Given the description of an element on the screen output the (x, y) to click on. 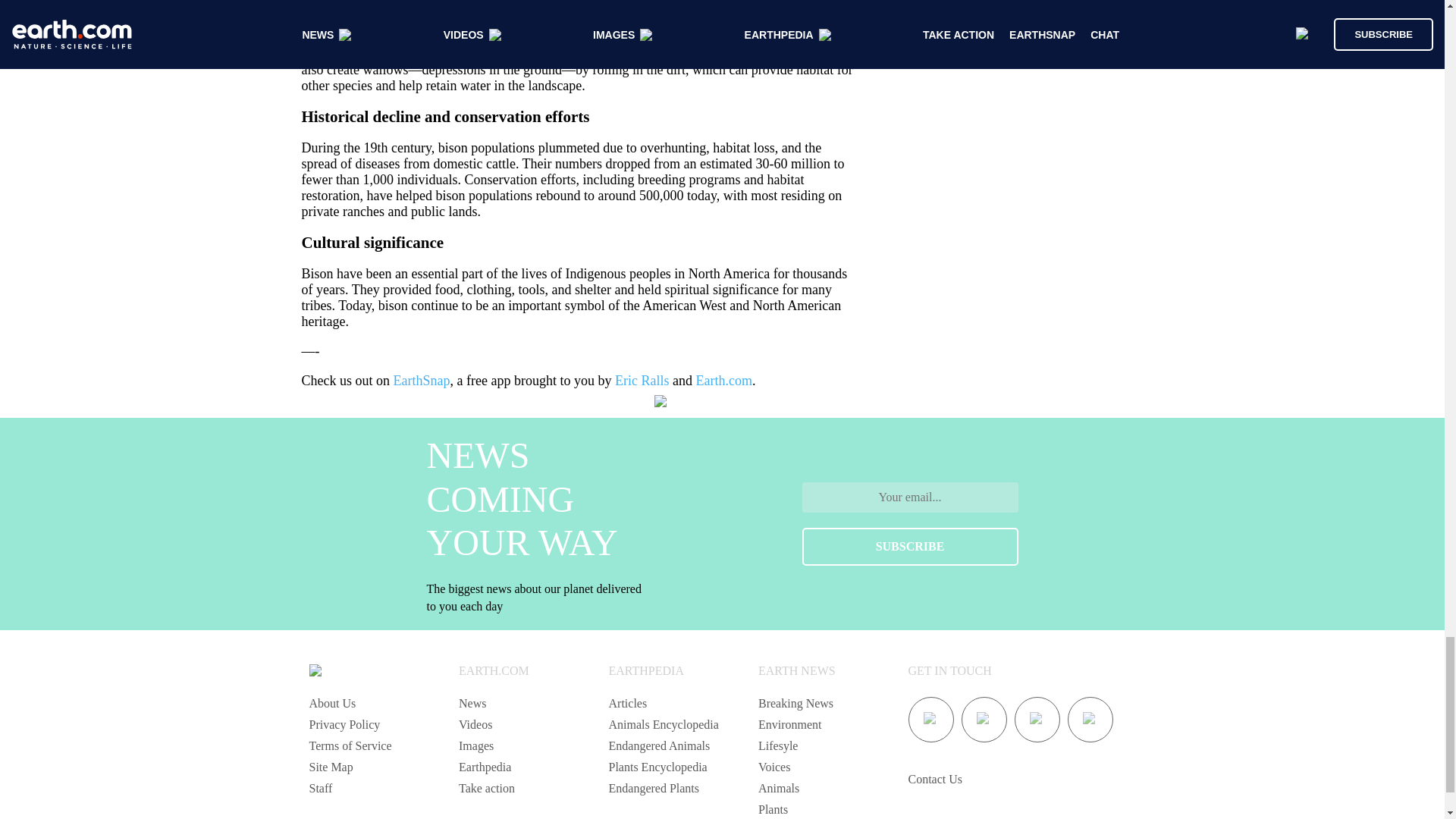
EarthSnap (421, 380)
Earth.com (723, 380)
Eric Ralls (641, 380)
